Given the description of an element on the screen output the (x, y) to click on. 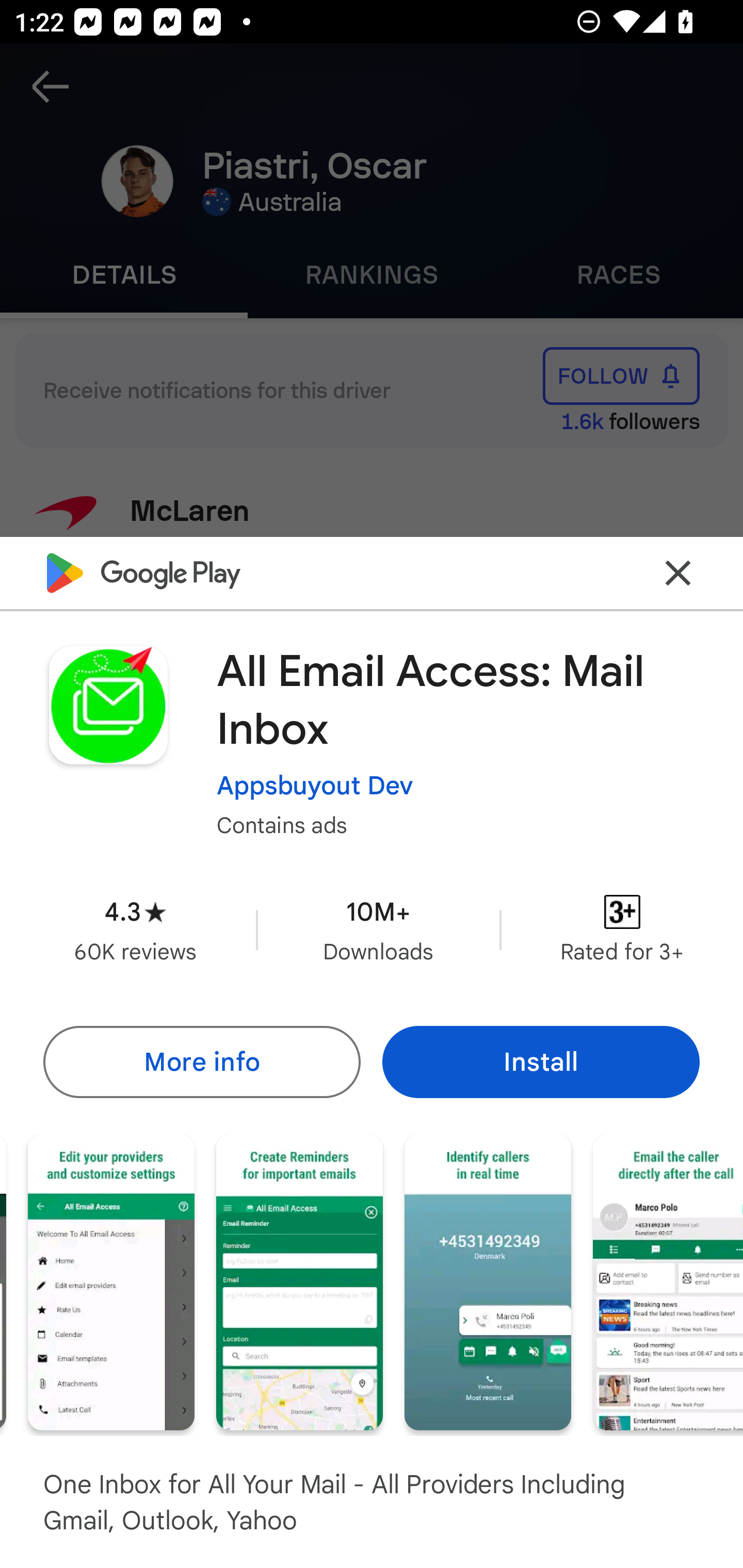
Close (677, 572)
Appsbuyout Dev (314, 784)
More info (201, 1061)
Install (540, 1061)
Screenshot "4" of "7" (111, 1281)
Screenshot "5" of "7" (299, 1281)
Screenshot "6" of "7" (487, 1281)
Screenshot "7" of "7" (667, 1281)
